Given the description of an element on the screen output the (x, y) to click on. 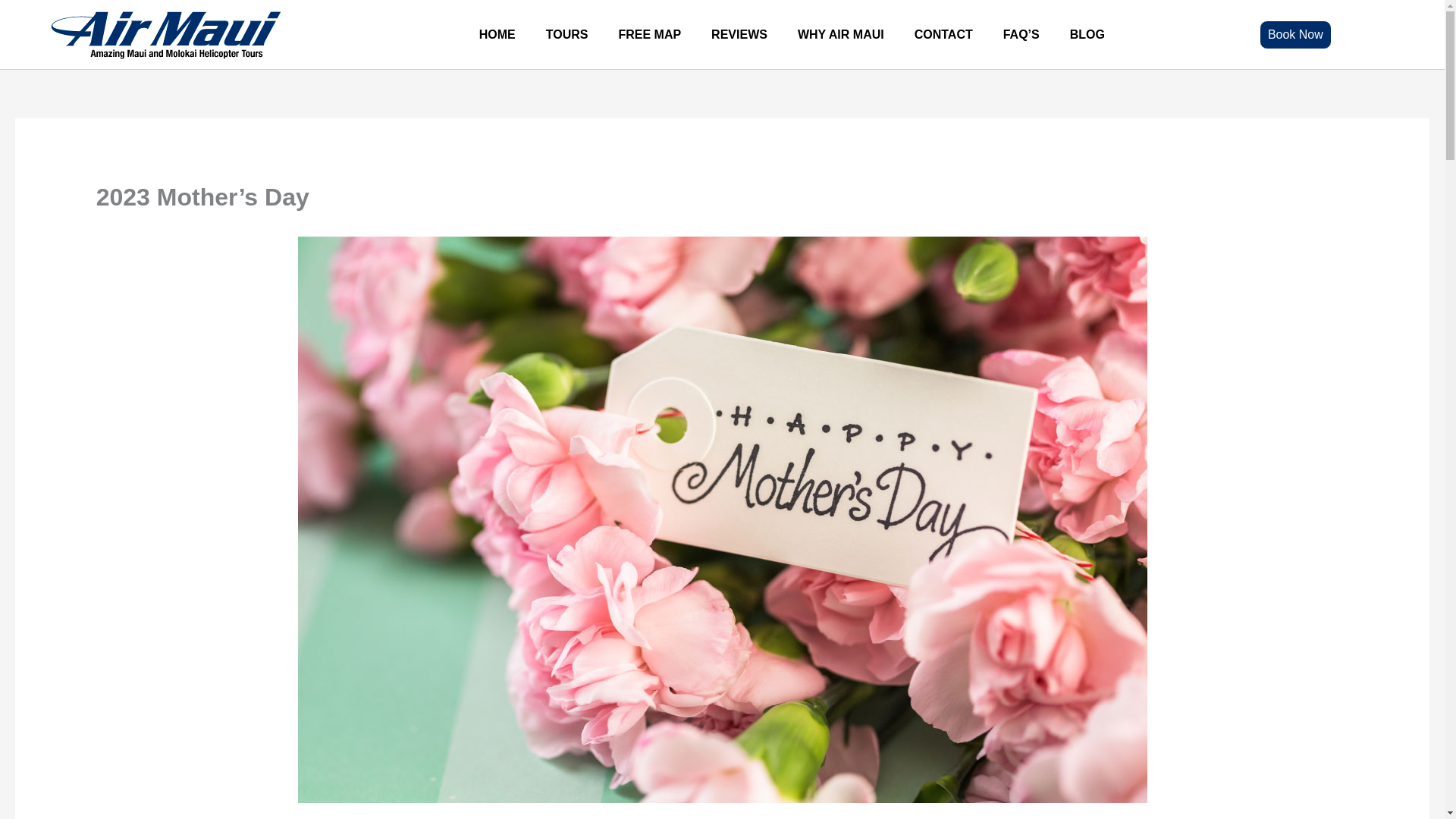
BLOG (1086, 33)
TOURS (567, 33)
REVIEWS (739, 33)
FREE MAP (648, 33)
WHY AIR MAUI (841, 33)
Book Now (1295, 33)
CONTACT (943, 33)
HOME (497, 33)
